Given the description of an element on the screen output the (x, y) to click on. 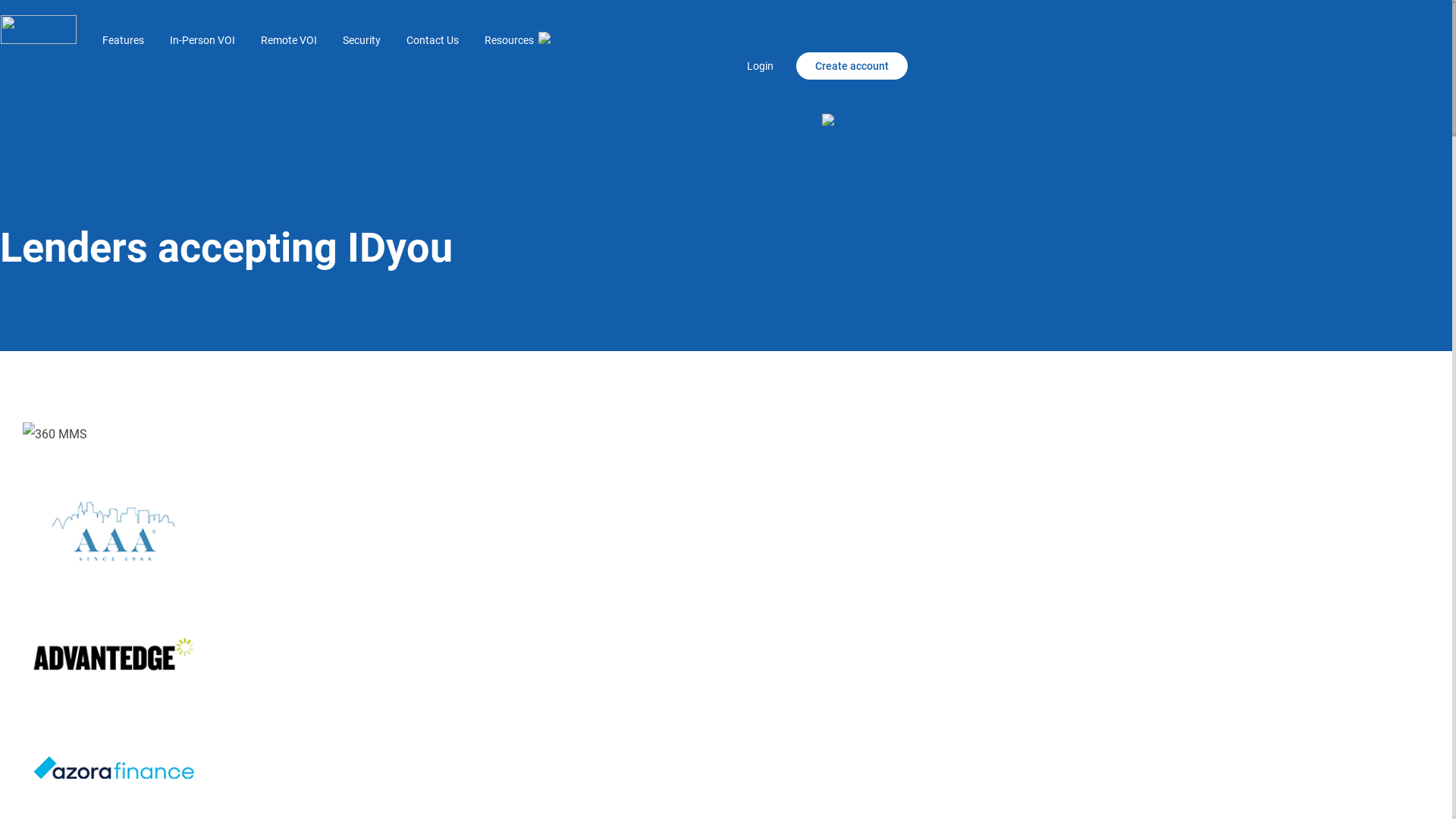
Login Element type: text (771, 65)
Contact Us Element type: text (432, 40)
Create account Element type: text (851, 65)
Features Element type: text (123, 40)
Security Element type: text (361, 40)
In-Person VOI Element type: text (202, 40)
Resources  Element type: text (517, 40)
Remote VOI Element type: text (288, 40)
